Given the description of an element on the screen output the (x, y) to click on. 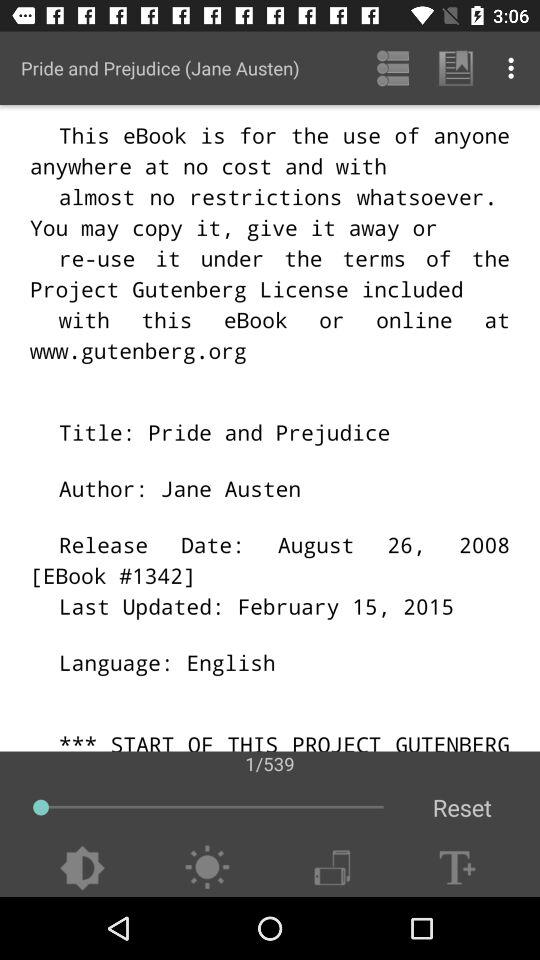
open app above the 1/539 app (455, 67)
